Given the description of an element on the screen output the (x, y) to click on. 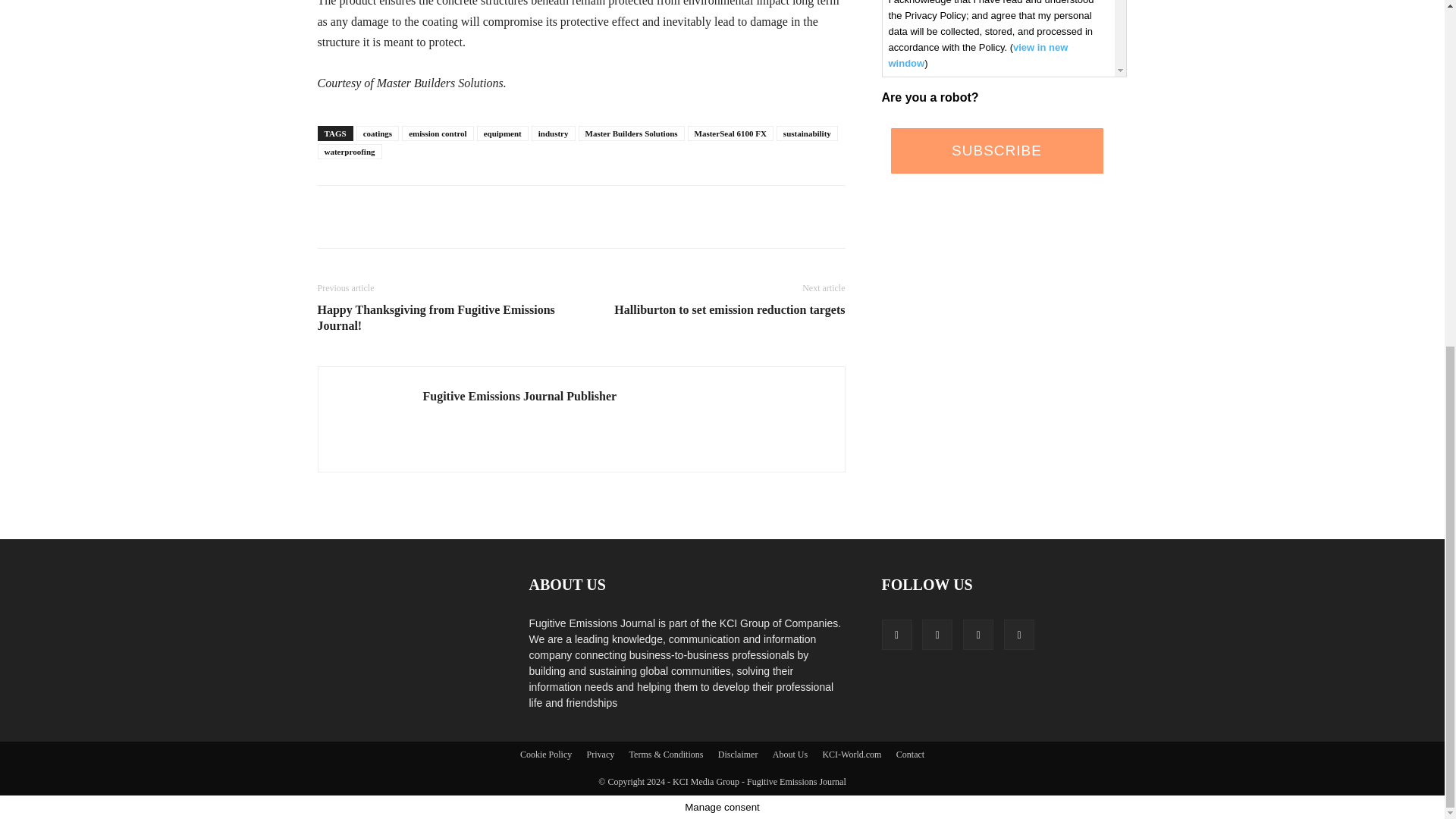
Facebook (895, 634)
Linkedin (936, 634)
SUBSCRIBE (995, 150)
